Given the description of an element on the screen output the (x, y) to click on. 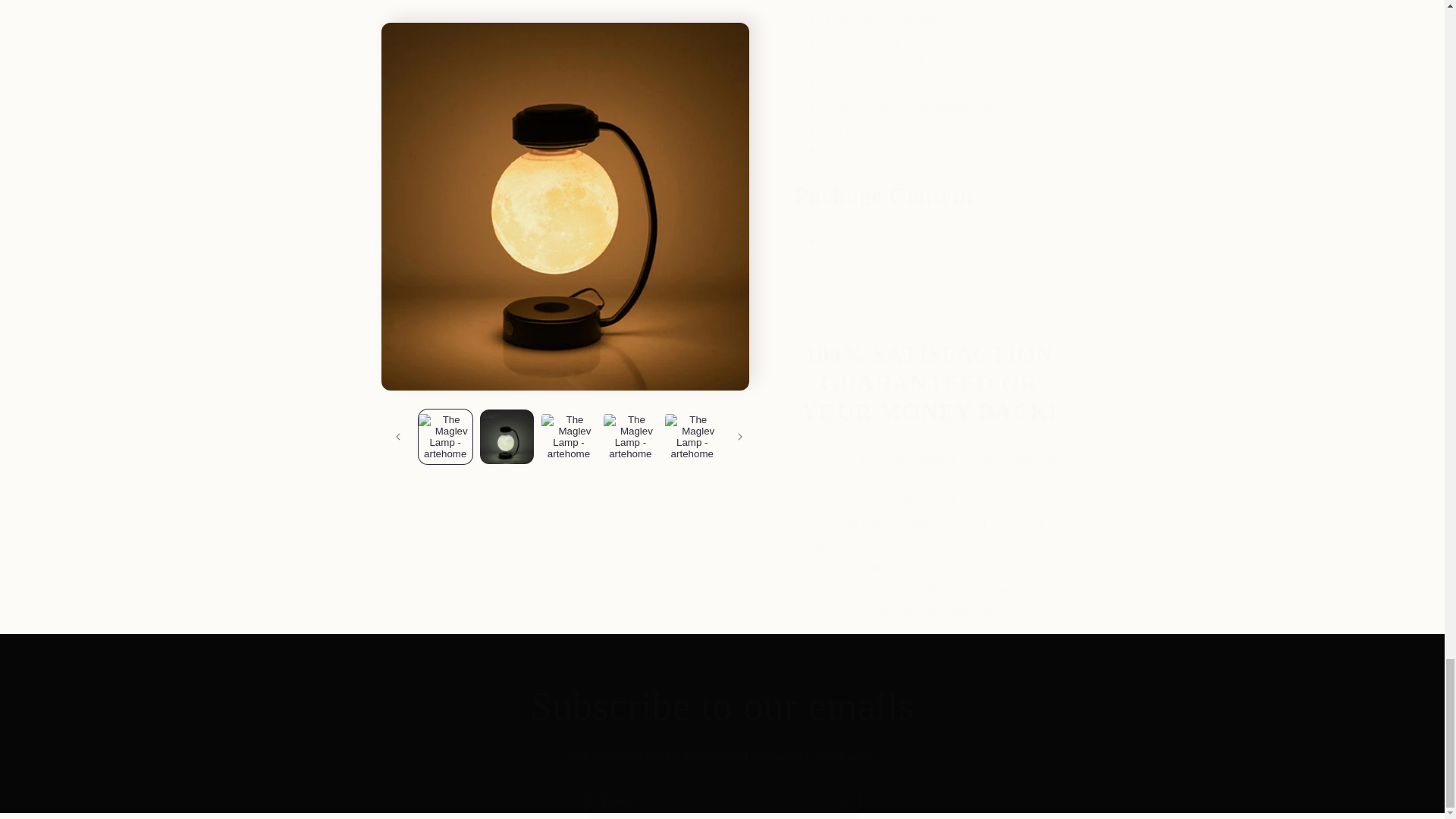
Subscribe to our emails (721, 706)
